Given the description of an element on the screen output the (x, y) to click on. 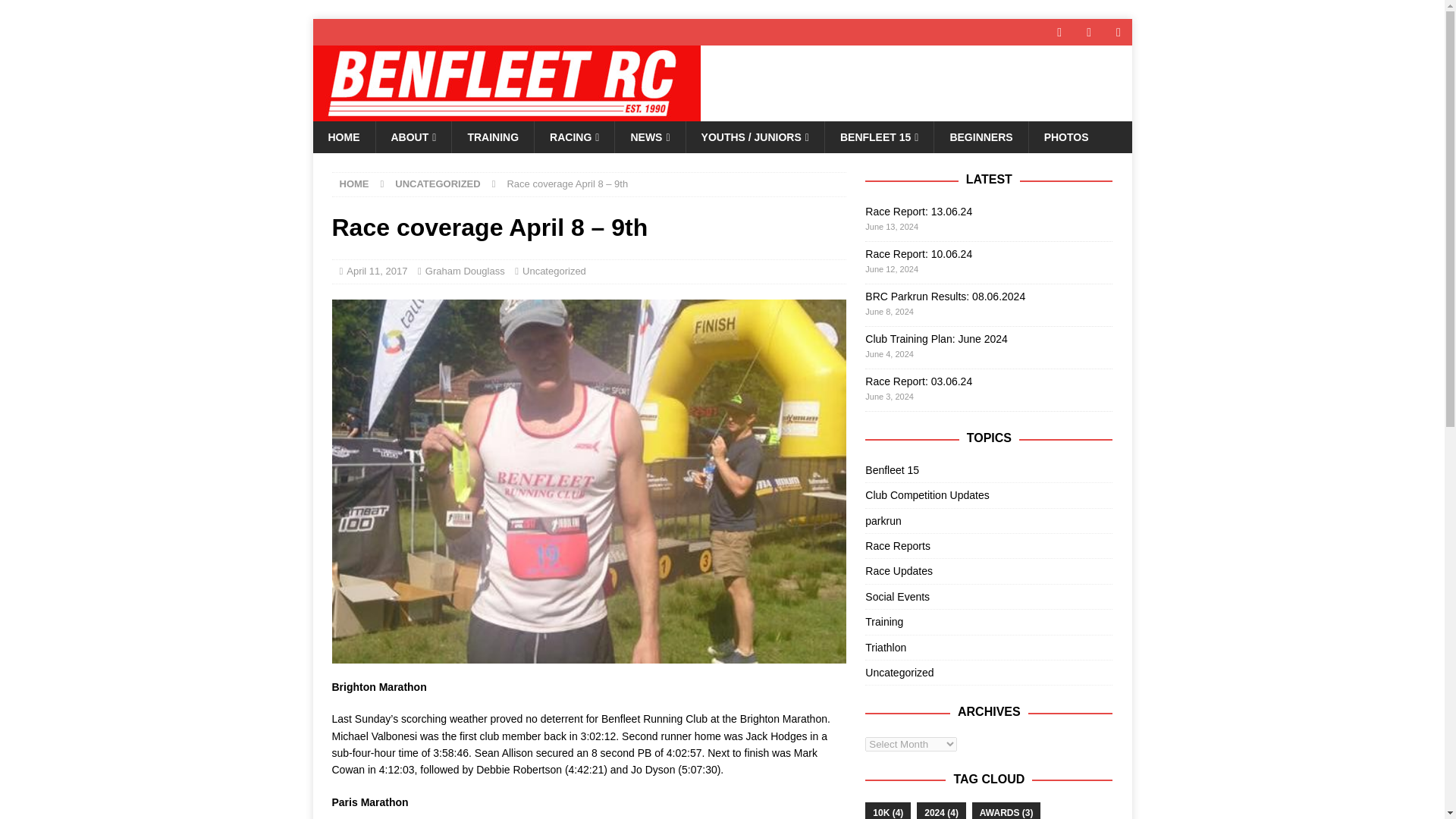
Benfleet Running Club (506, 112)
